Given the description of an element on the screen output the (x, y) to click on. 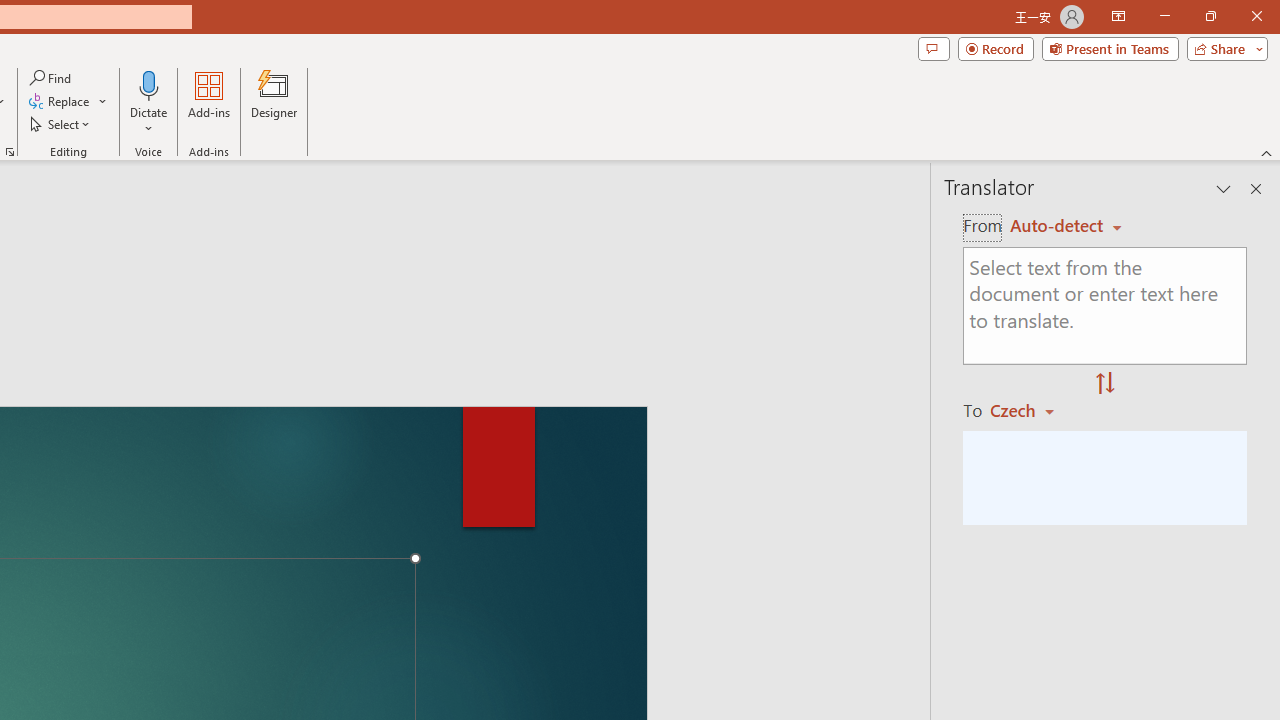
Swap "from" and "to" languages. (1105, 383)
